Given the description of an element on the screen output the (x, y) to click on. 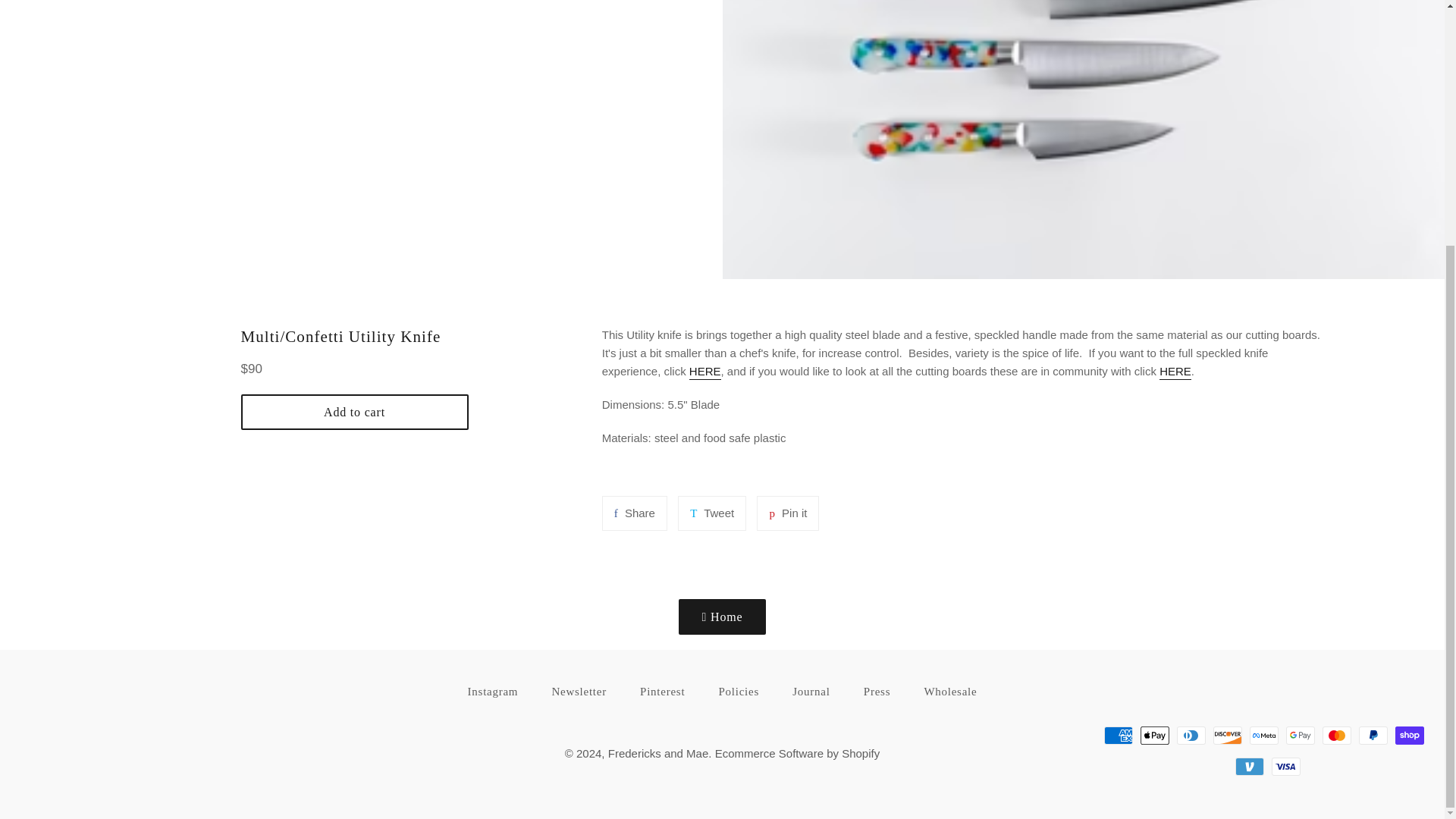
Pin on Pinterest (787, 513)
Discover (1226, 735)
Ecommerce Software by Shopify (797, 753)
Google Pay (787, 513)
Apple Pay (1299, 735)
Fredericks and Mae (1154, 735)
Newsletter (658, 753)
Journal (578, 691)
